Given the description of an element on the screen output the (x, y) to click on. 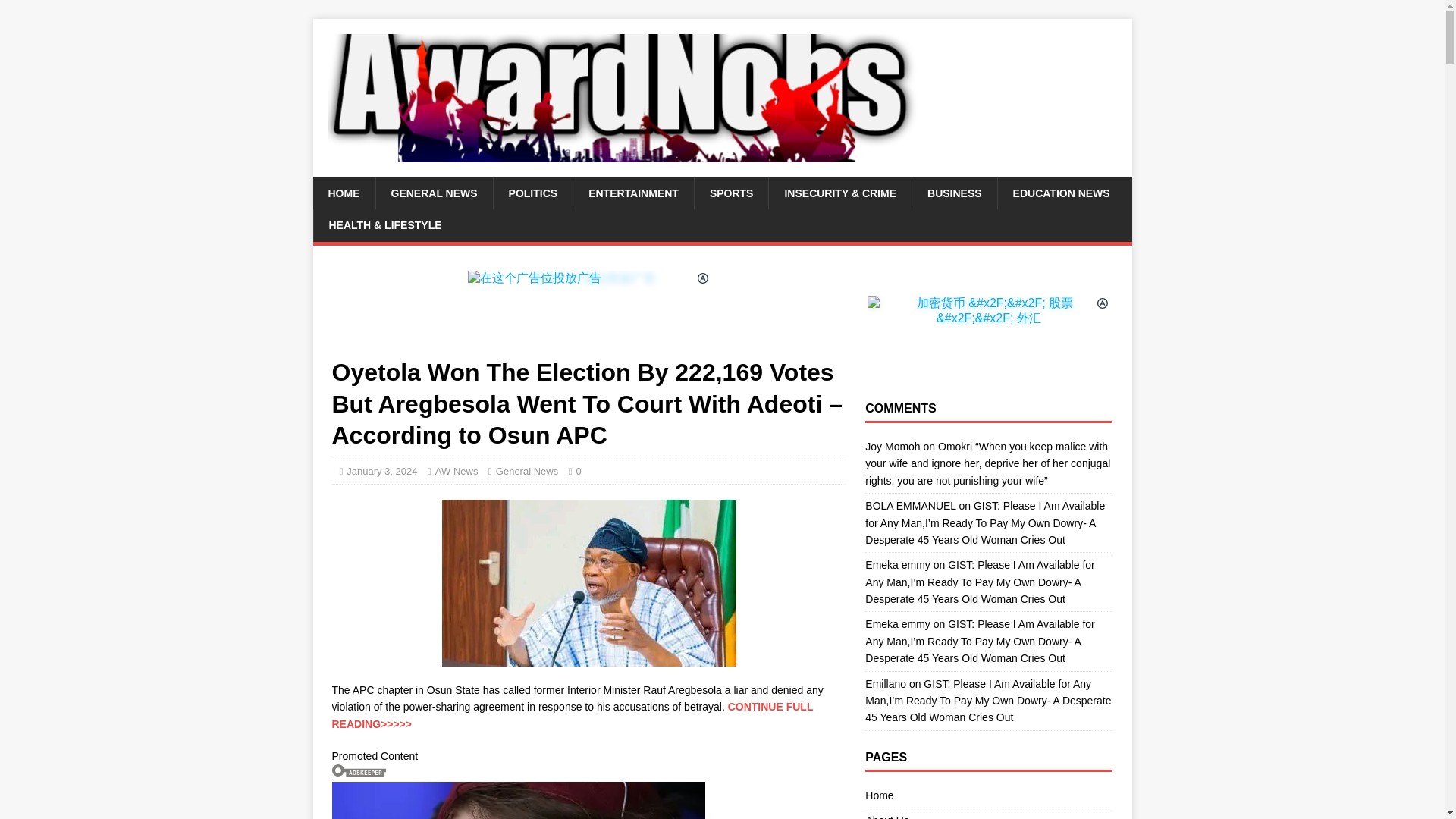
POLITICS (533, 193)
HOME (343, 193)
About Us (988, 813)
AW News (457, 471)
SPORTS (731, 193)
ENTERTAINMENT (633, 193)
BUSINESS (954, 193)
EDUCATION NEWS (1061, 193)
January 3, 2024 (381, 471)
Home (988, 797)
GENERAL NEWS (433, 193)
General News (526, 471)
